Given the description of an element on the screen output the (x, y) to click on. 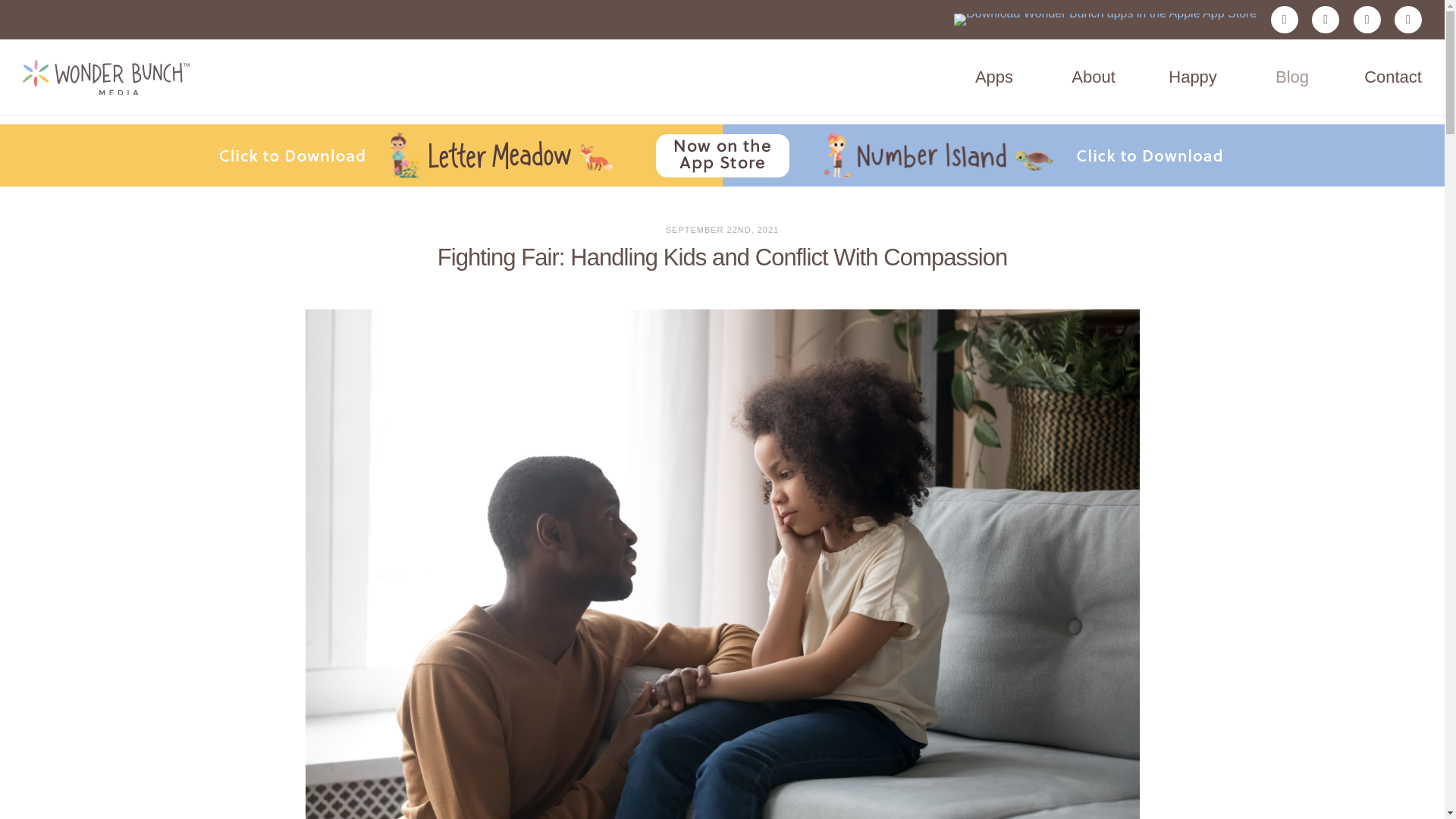
Blog (1292, 77)
About (1093, 77)
Contact (1393, 77)
Happy (1193, 77)
Apps (994, 77)
